Given the description of an element on the screen output the (x, y) to click on. 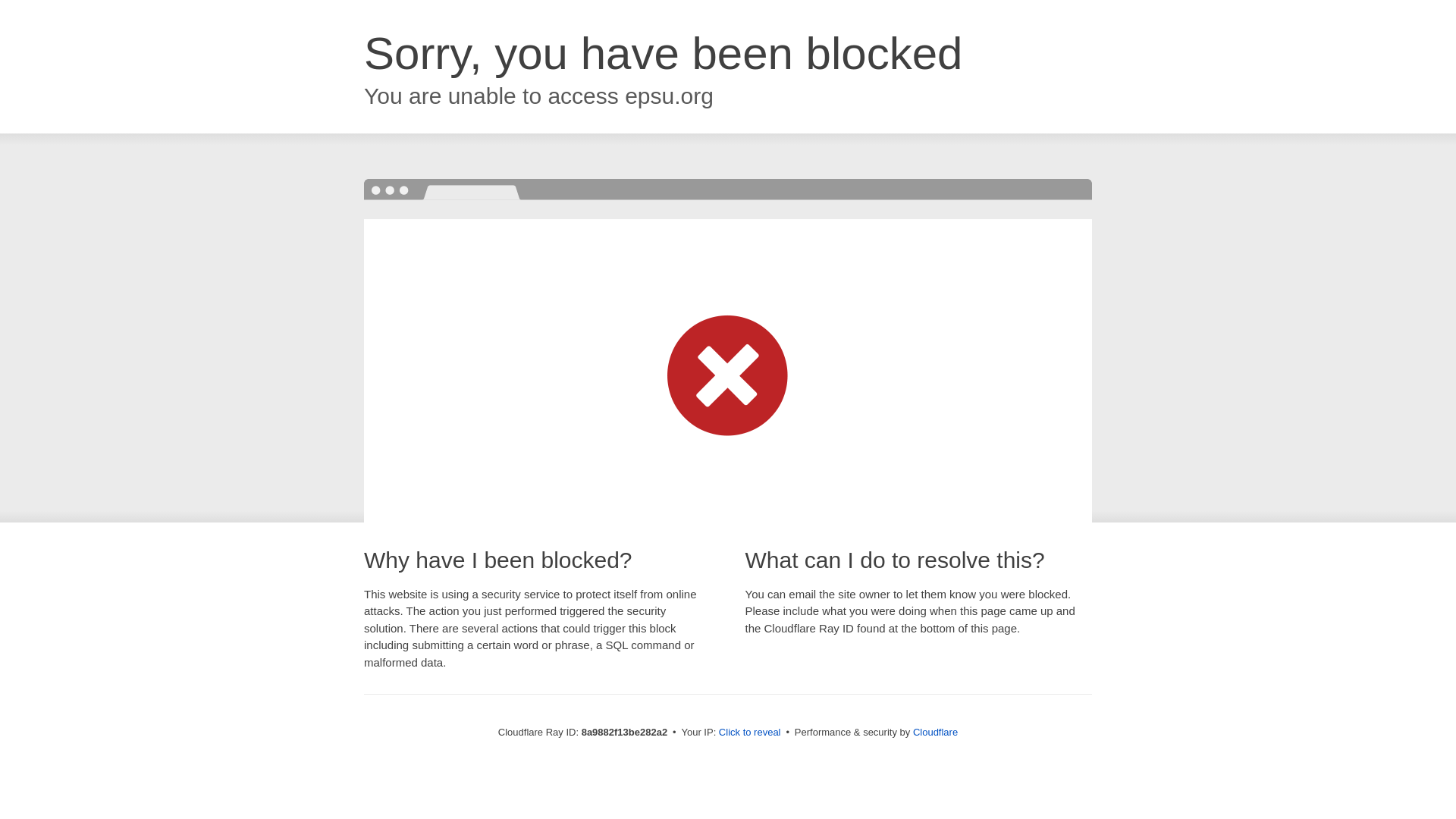
Cloudflare (935, 731)
Click to reveal (749, 732)
